Given the description of an element on the screen output the (x, y) to click on. 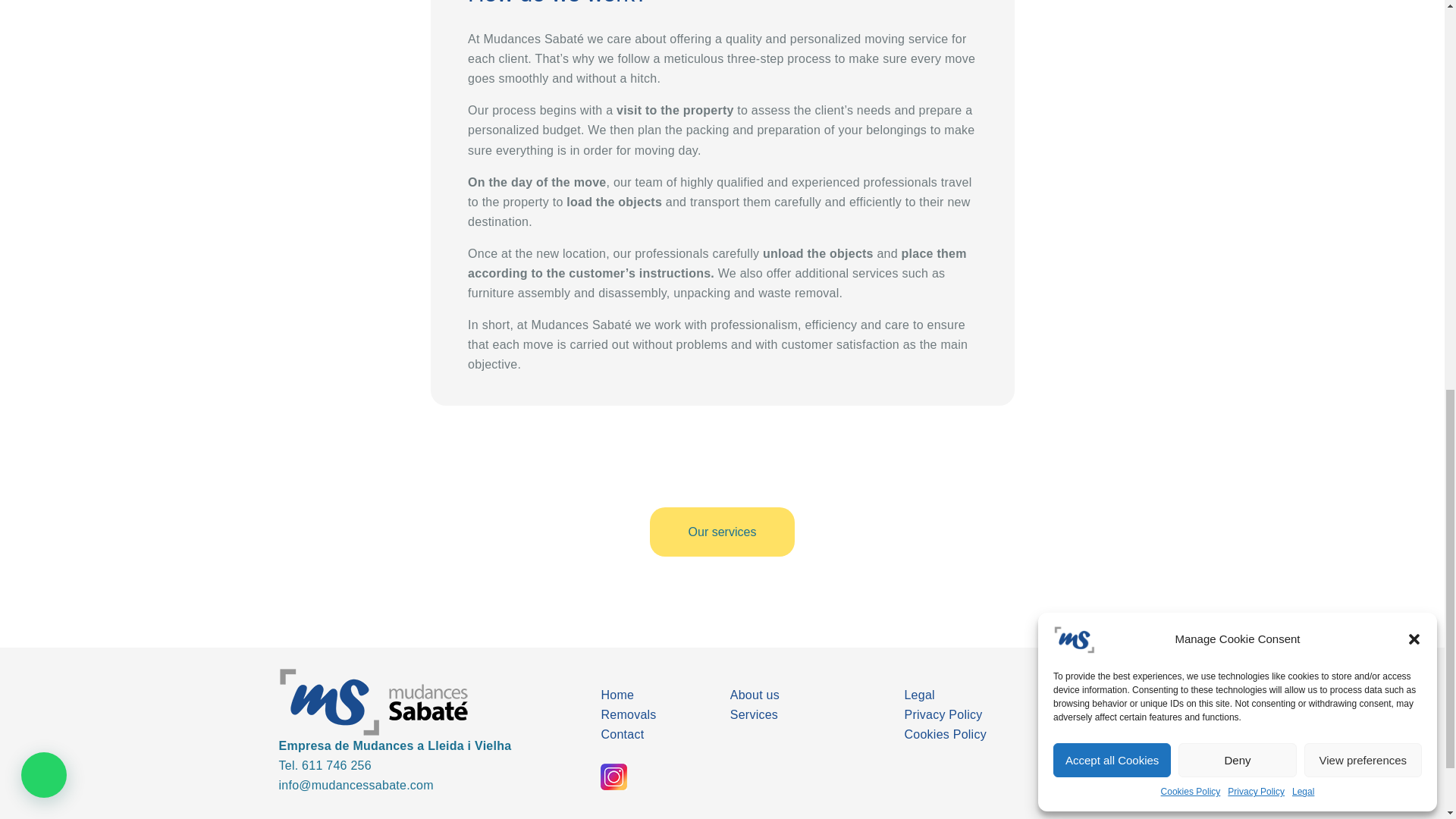
Our services (721, 531)
Tel. 611 746 256 (325, 765)
How do we work? (721, 7)
